Given the description of an element on the screen output the (x, y) to click on. 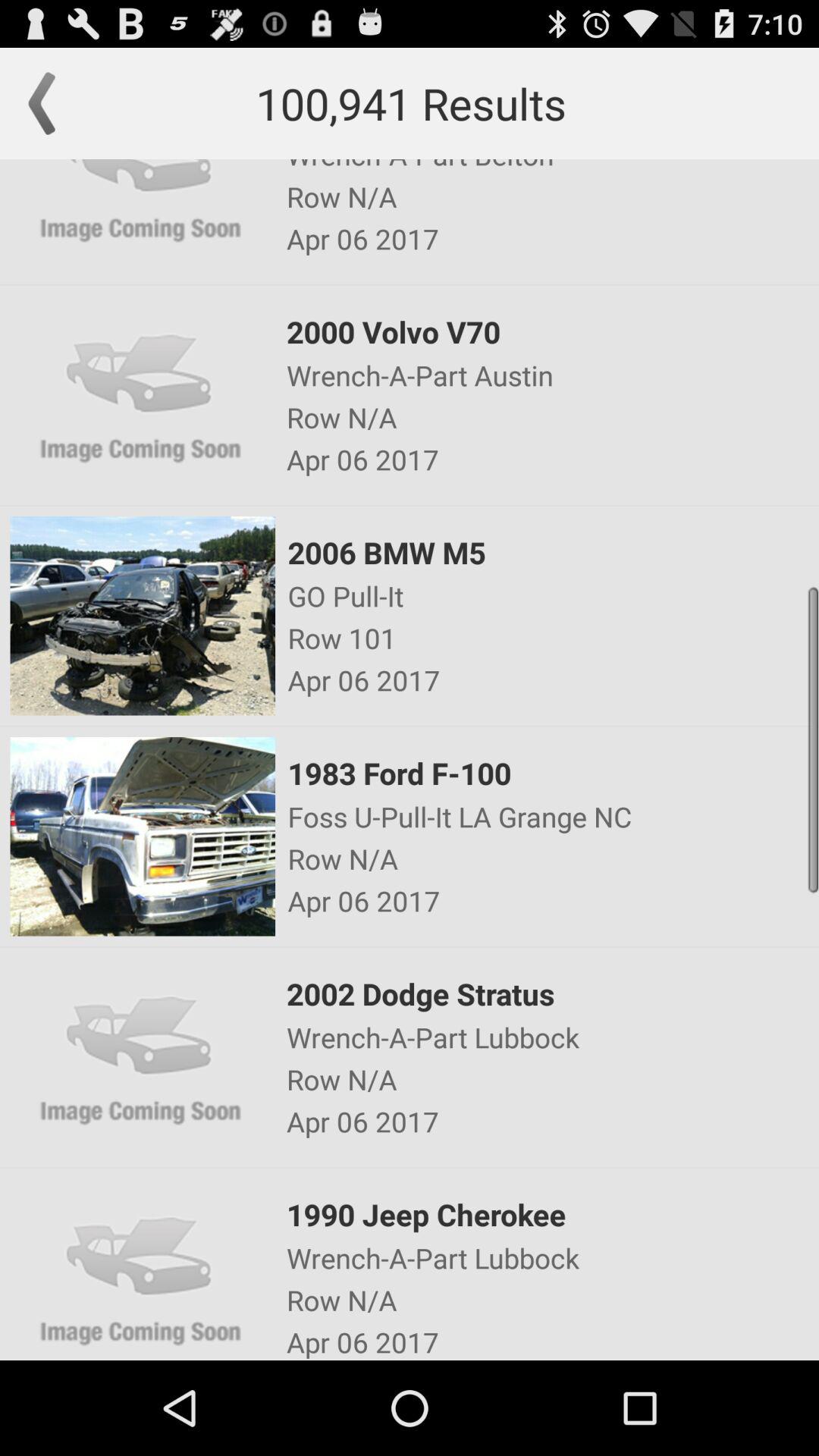
flip to 1990 jeep cherokee icon (551, 1214)
